Given the description of an element on the screen output the (x, y) to click on. 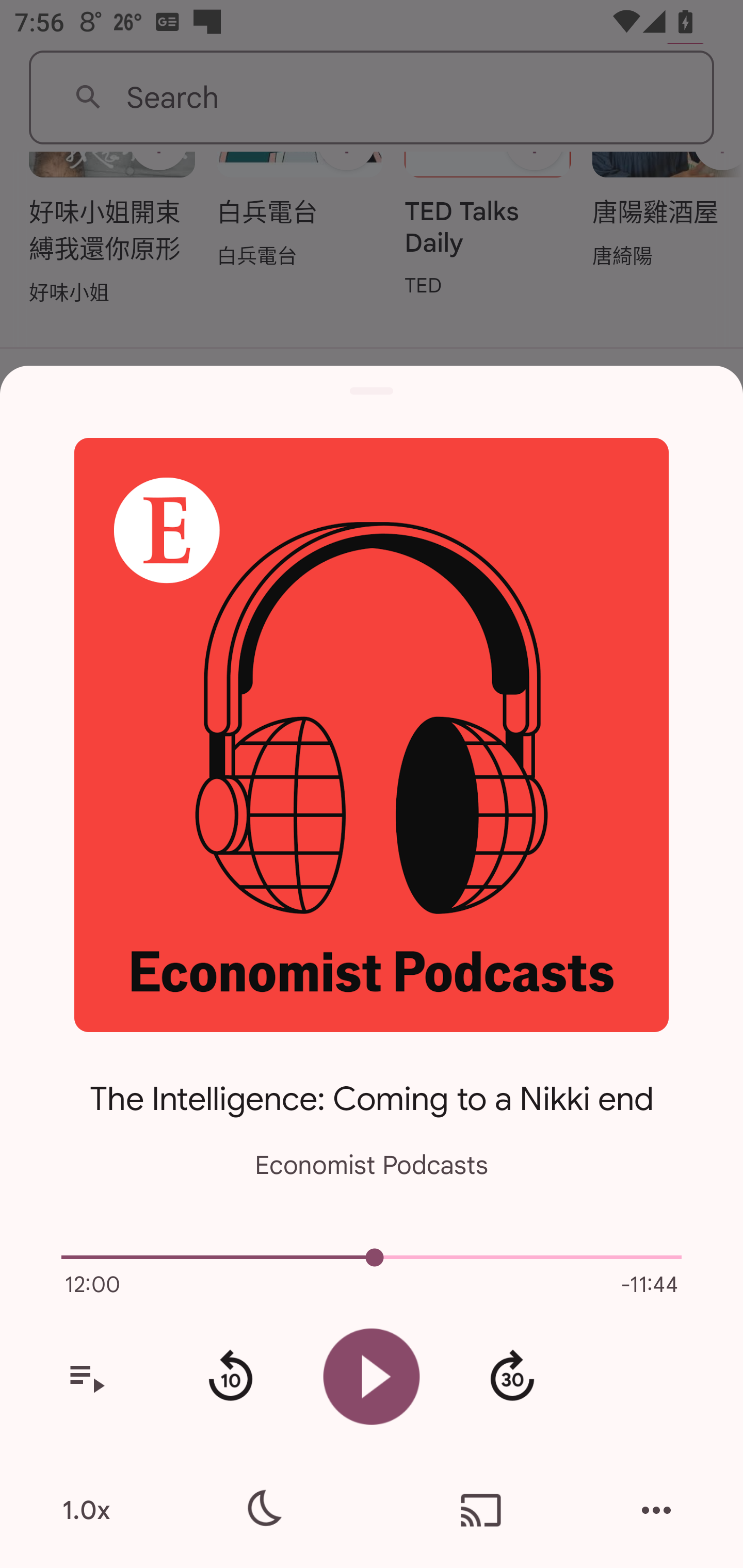
Open the show page for Economist Podcasts (371, 734)
5054.0 Current episode playback (371, 1257)
Play (371, 1376)
View your queue (86, 1376)
Rewind 10 seconds (230, 1376)
Fast forward 30 second (511, 1376)
1.0x Playback speed is 1.0. (86, 1510)
Sleep timer settings (261, 1510)
Cast. Disconnected (480, 1510)
More actions (655, 1510)
